Given the description of an element on the screen output the (x, y) to click on. 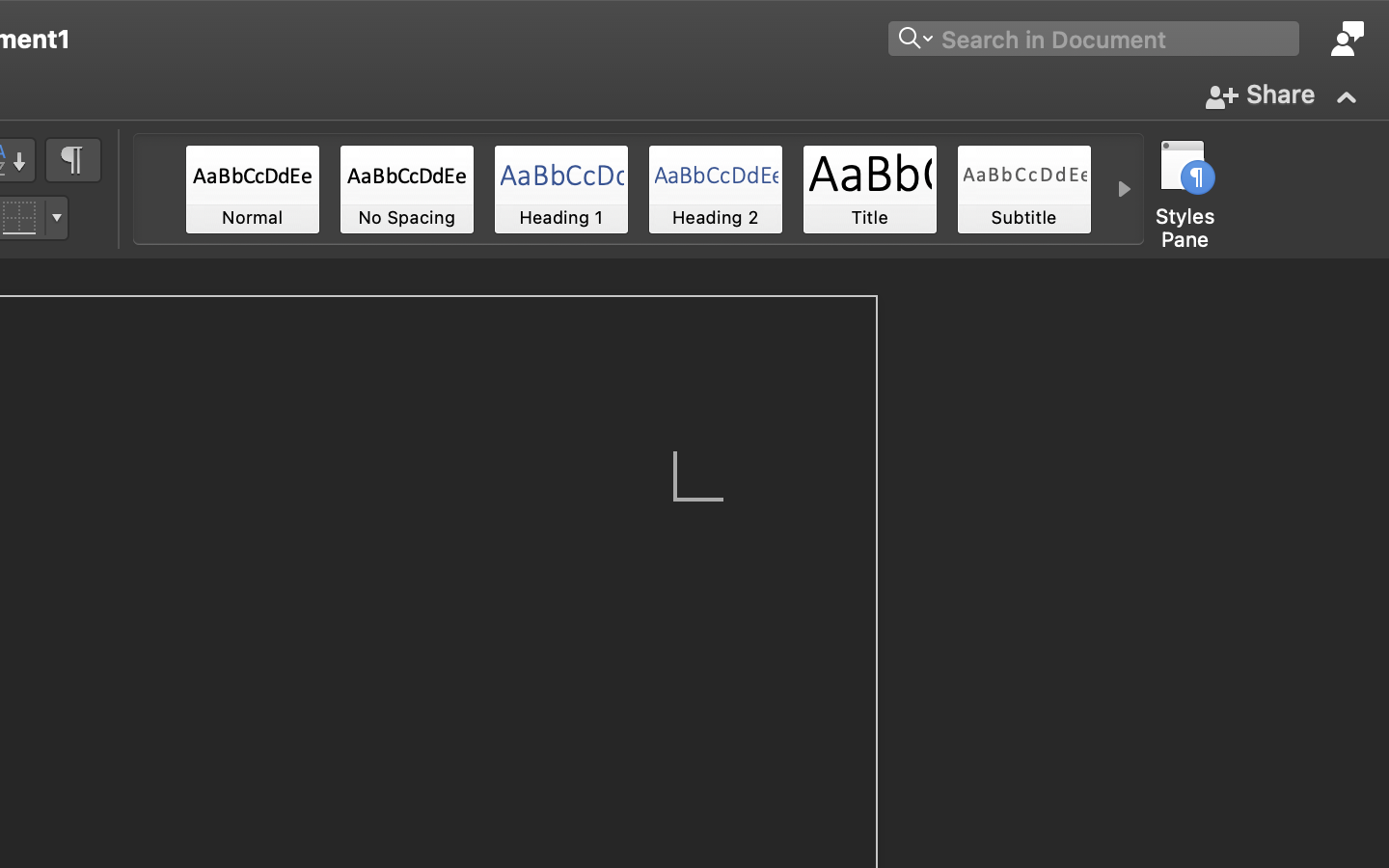
0 Element type: AXRadioButton (406, 188)
